Given the description of an element on the screen output the (x, y) to click on. 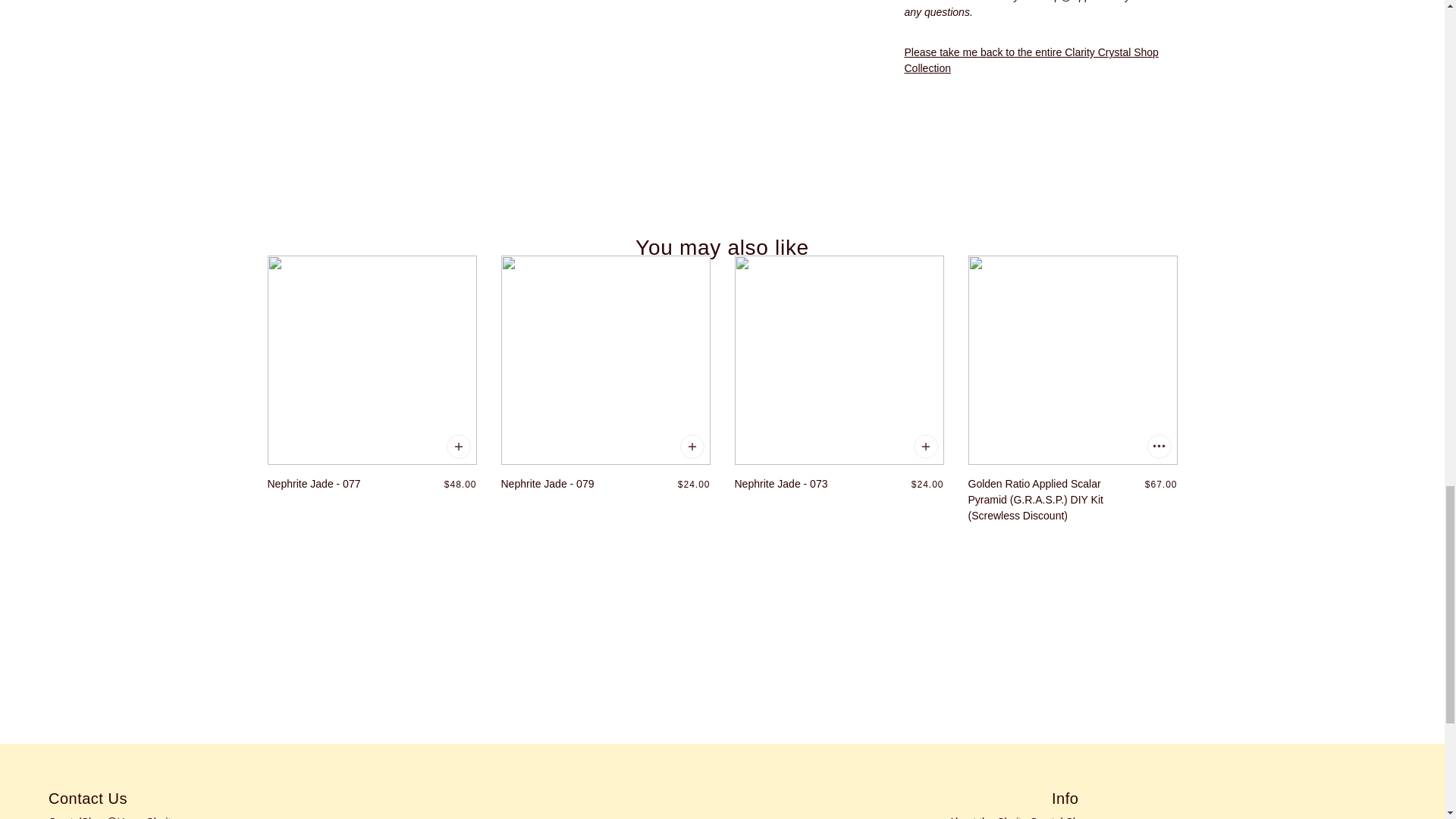
Carousel testimonials reviews widget (721, 632)
About the Clarity Crystal Shop (1019, 817)
